Given the description of an element on the screen output the (x, y) to click on. 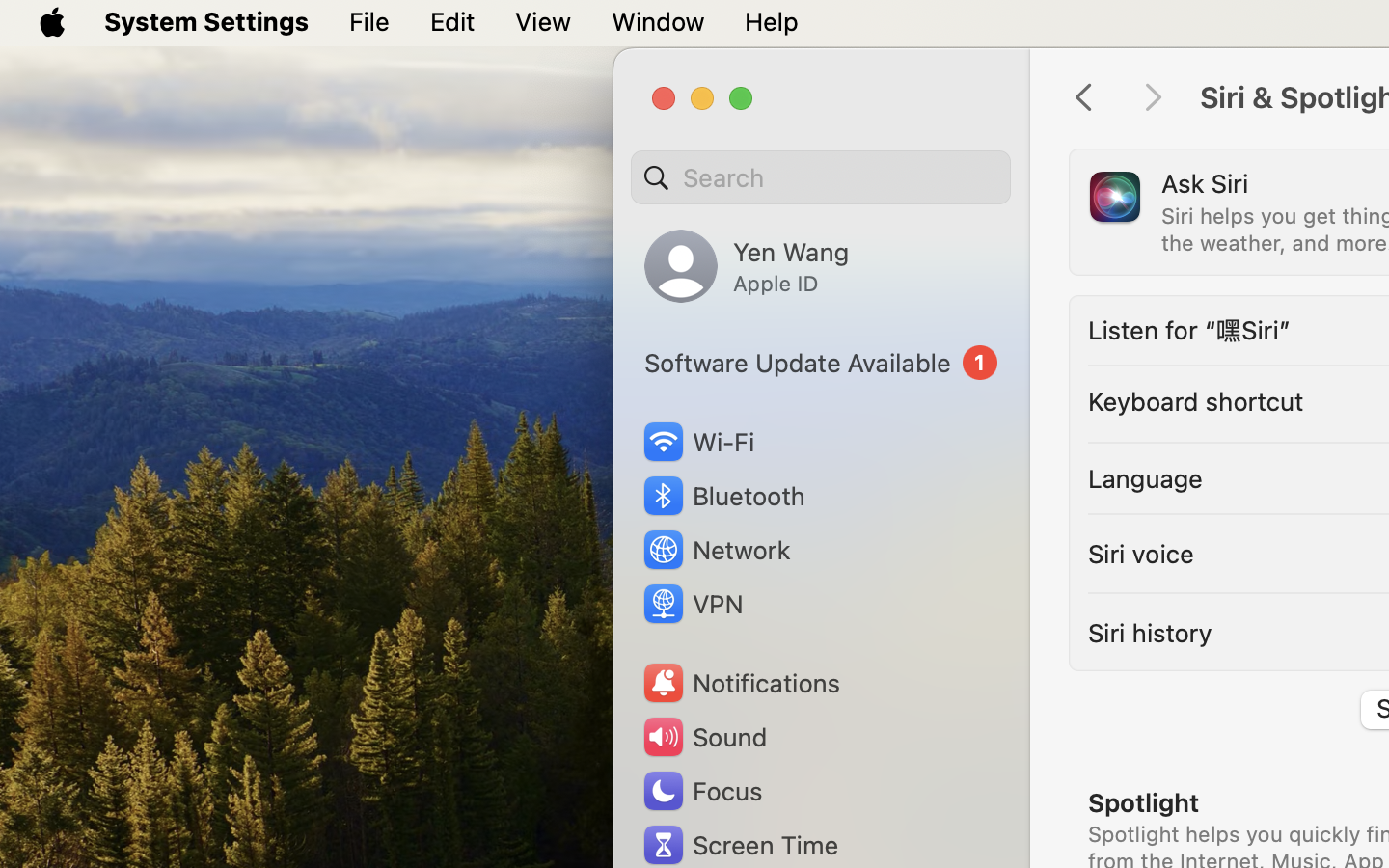
Yen Wang, Apple ID Element type: AXStaticText (746, 265)
Siri history Element type: AXStaticText (1149, 632)
Listen for “嘿Siri” Element type: AXStaticText (1189, 329)
Bluetooth Element type: AXStaticText (723, 495)
Ask Siri Element type: AXStaticText (1204, 182)
